Given the description of an element on the screen output the (x, y) to click on. 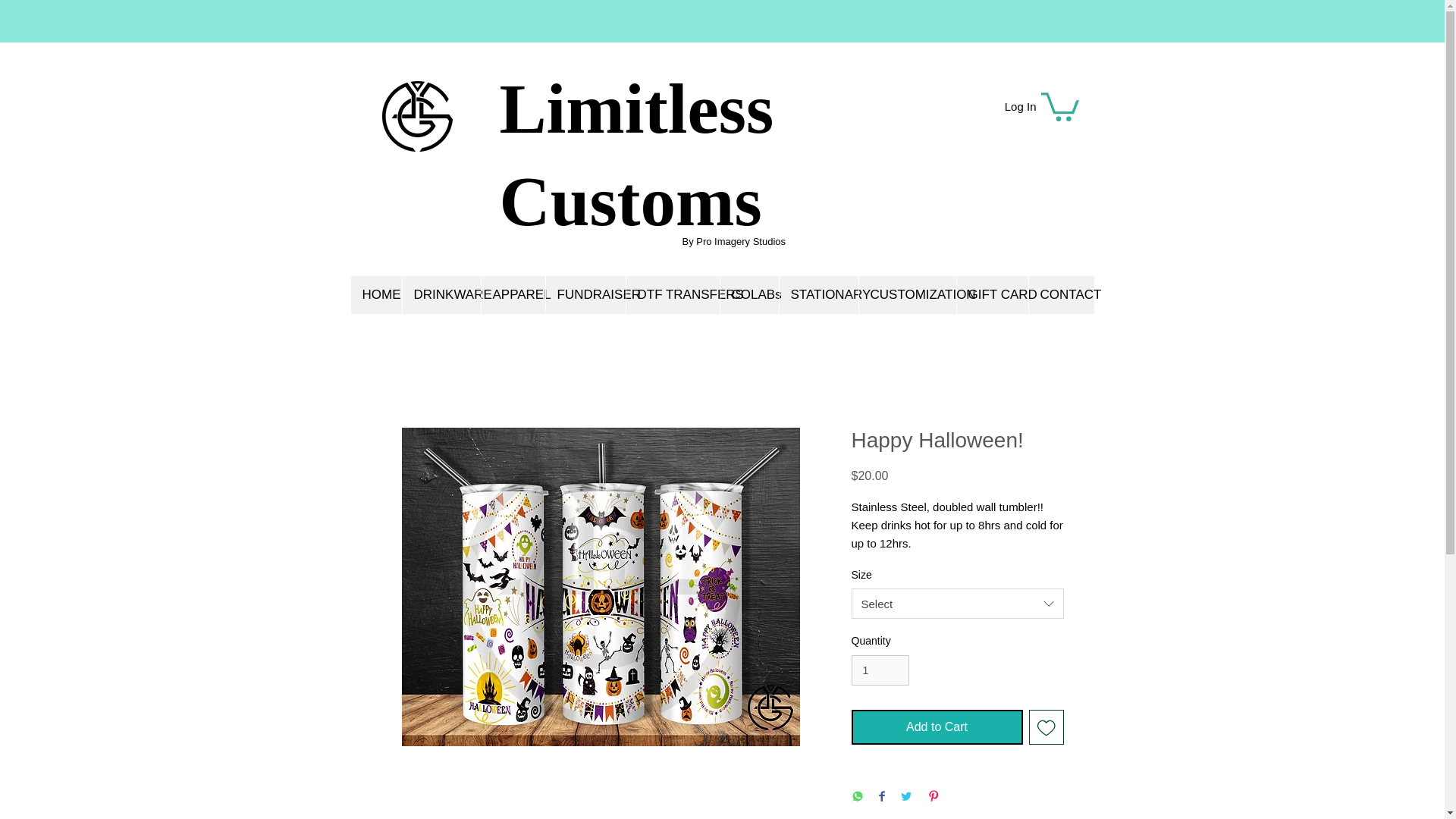
CONTACT (1060, 294)
Select (956, 603)
HOME (375, 294)
DTF TRANSFERS (671, 294)
1 (879, 670)
APPAREL (512, 294)
CUSTOMIZATION (907, 294)
COLABs (748, 294)
STATIONARY (817, 294)
Add to Cart (936, 727)
